Given the description of an element on the screen output the (x, y) to click on. 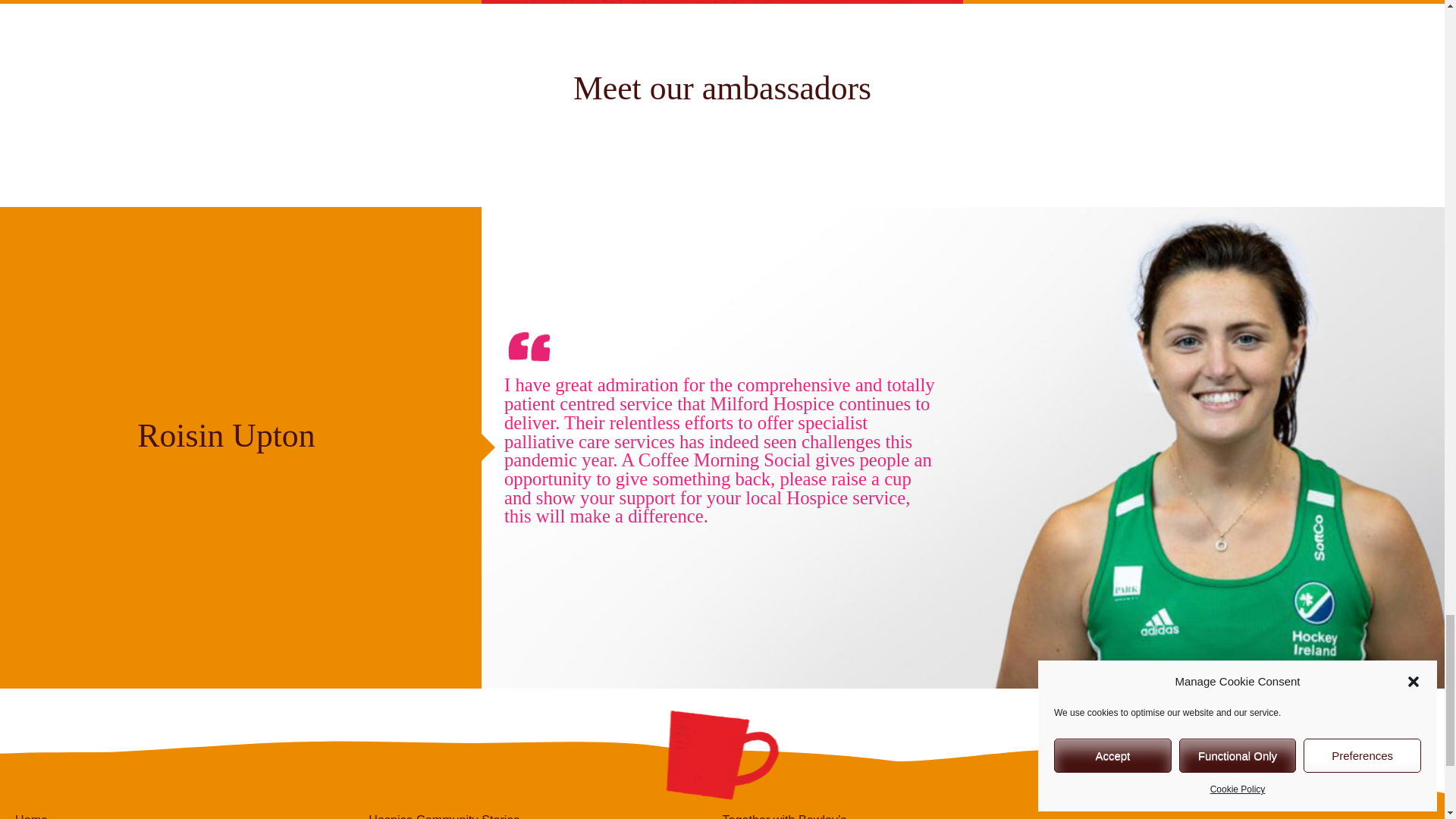
Hospice Community Stories (545, 816)
Home (191, 816)
